Given the description of an element on the screen output the (x, y) to click on. 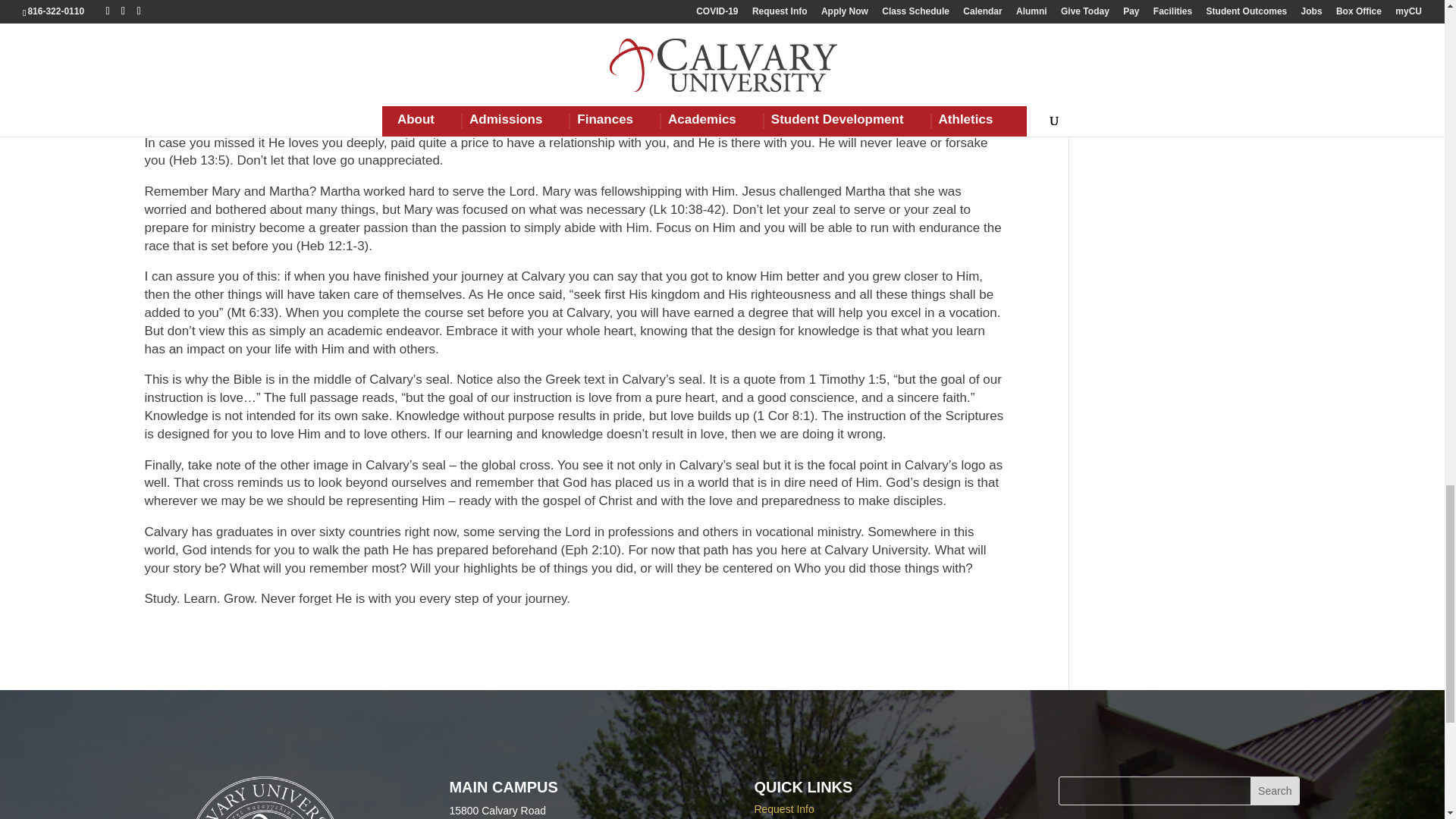
Search (1274, 790)
Search (1274, 790)
CU-Seal white (264, 797)
